Given the description of an element on the screen output the (x, y) to click on. 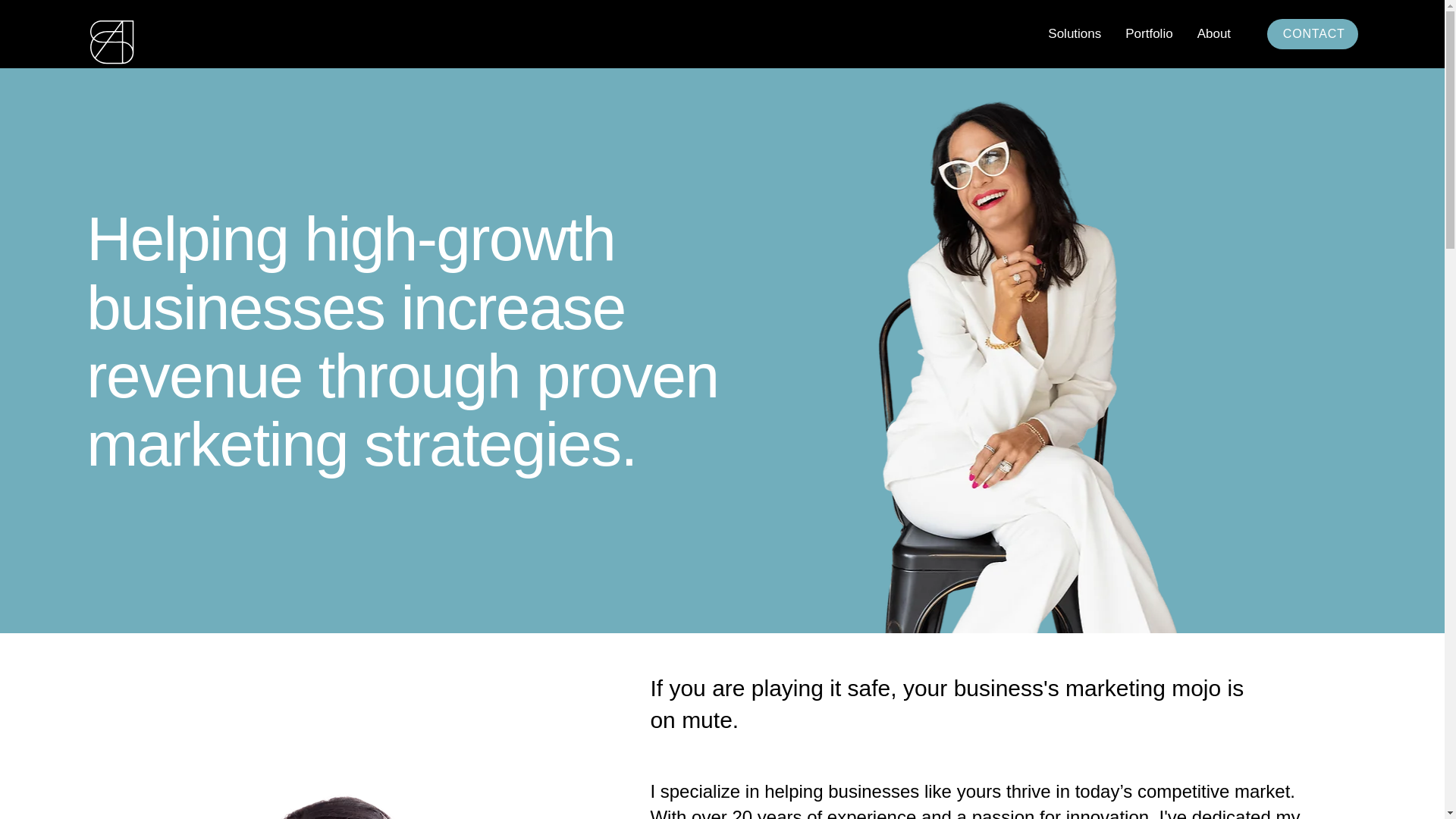
Solutions (1074, 33)
About (1213, 33)
CONTACT (1312, 33)
Portfolio (1148, 33)
